Given the description of an element on the screen output the (x, y) to click on. 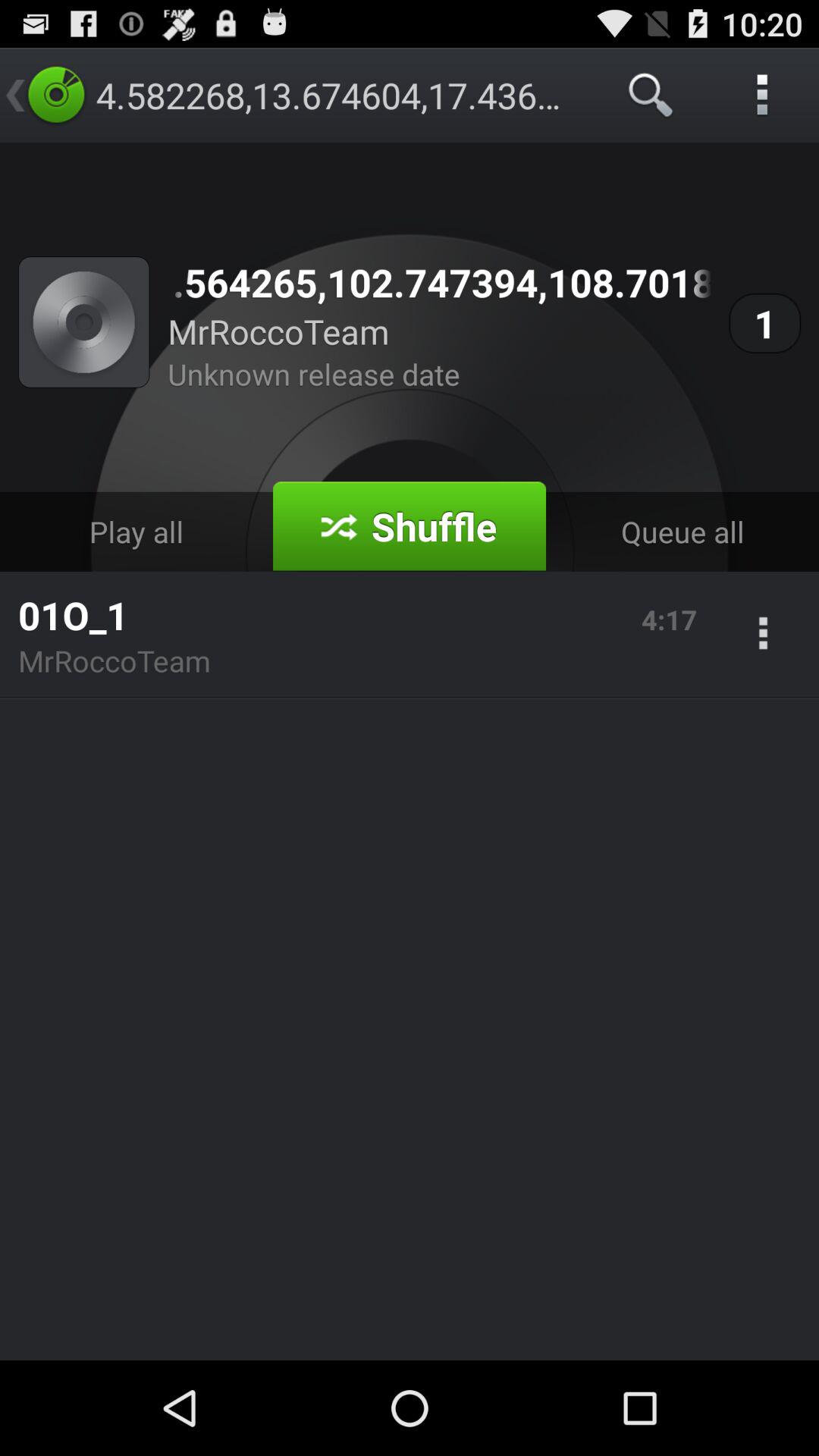
press the app next to shuffle icon (682, 531)
